Given the description of an element on the screen output the (x, y) to click on. 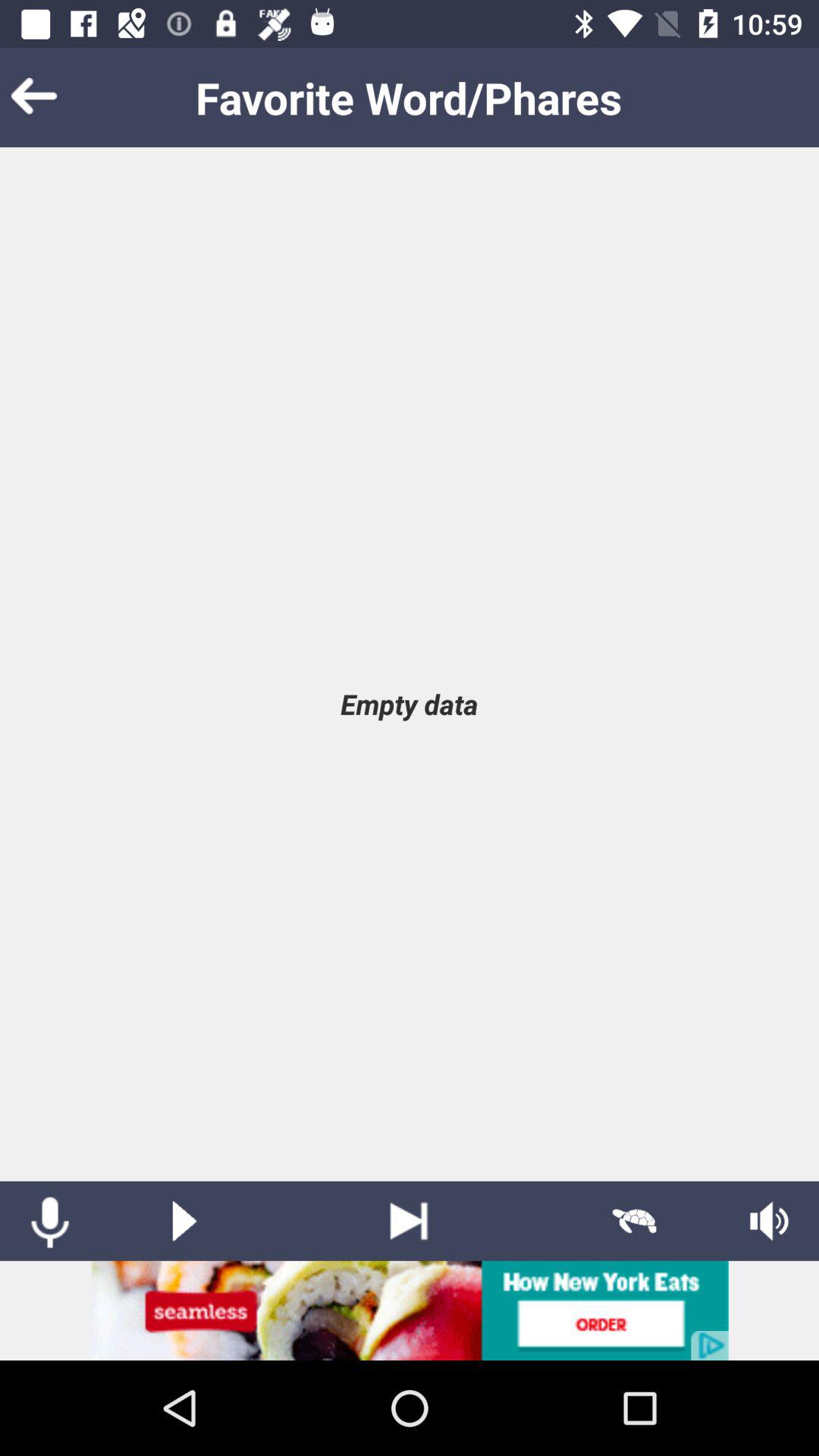
play a favorite word/phares (184, 1220)
